Given the description of an element on the screen output the (x, y) to click on. 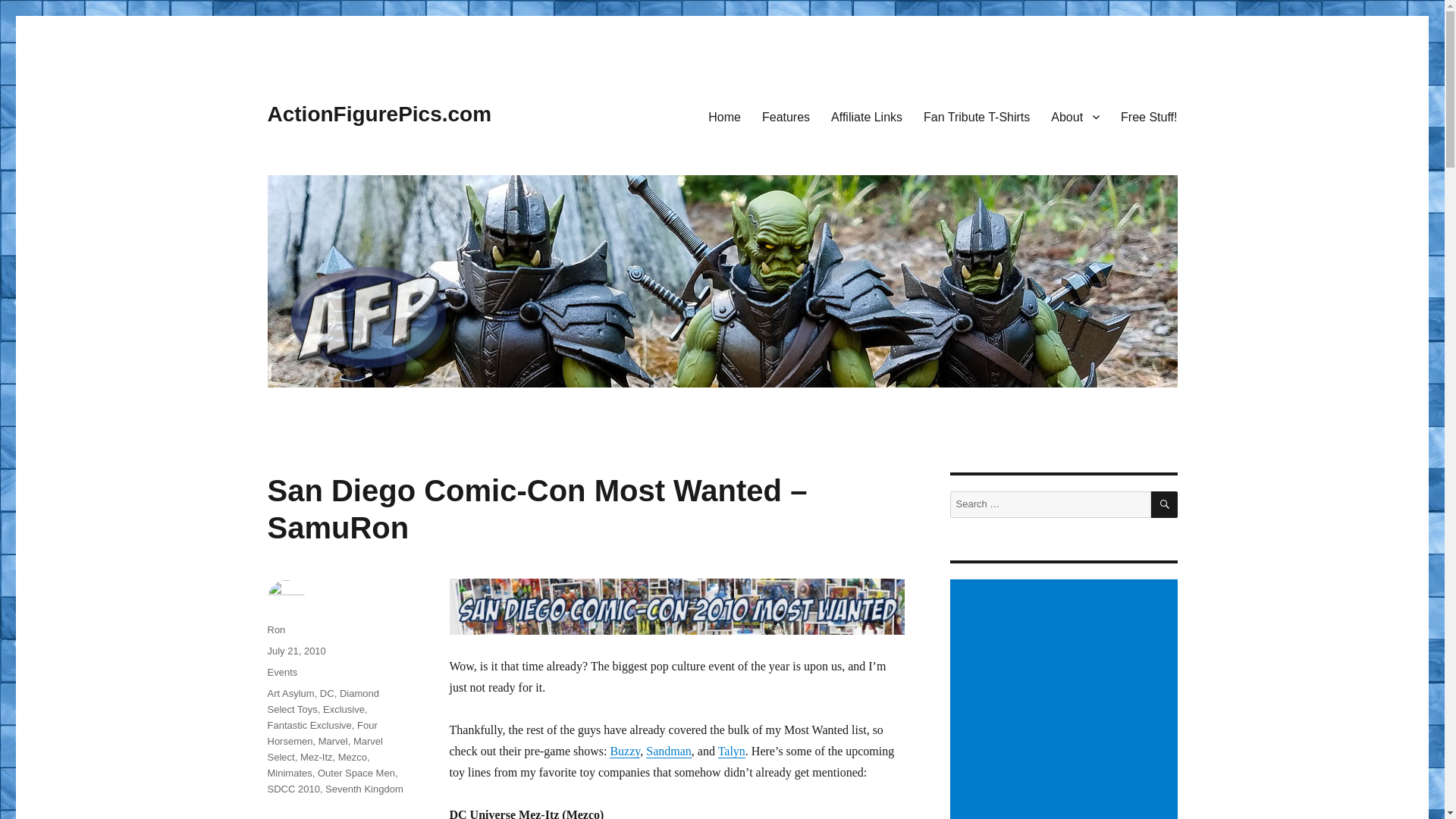
ActionFigurePics.com (379, 114)
About (1075, 116)
Sandman (668, 750)
Talyn (731, 750)
Advertisement (1065, 699)
Buzzy (625, 750)
Home (724, 116)
Features (786, 116)
Fan Tribute T-Shirts (976, 116)
SDCC Most Wanted (676, 606)
Affiliate Links (866, 116)
Free Stuff! (1148, 116)
